Given the description of an element on the screen output the (x, y) to click on. 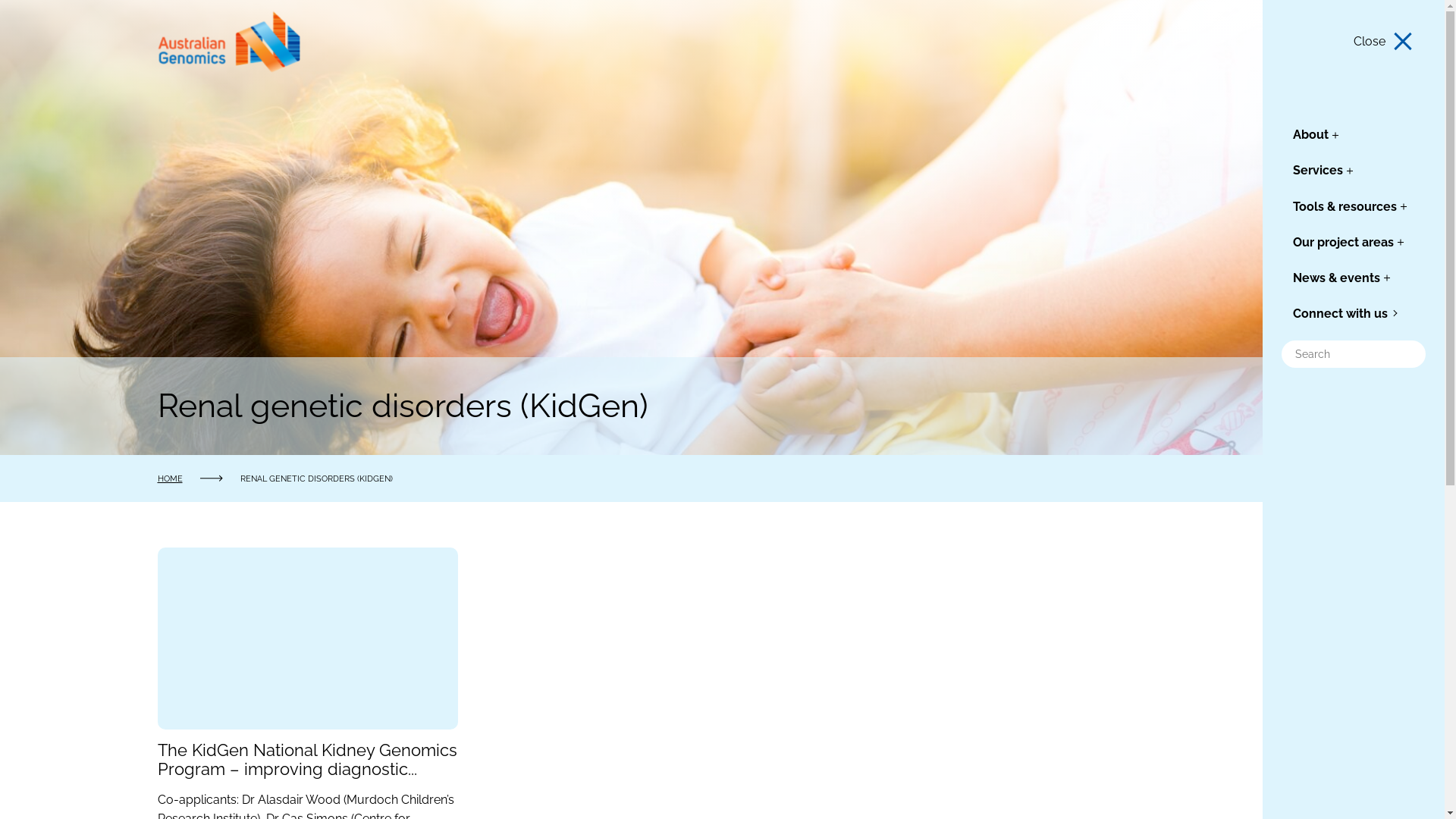
About Element type: text (1310, 134)
Services Element type: text (1317, 170)
News & events Element type: text (1336, 277)
Close Element type: text (1383, 41)
HOME Element type: text (169, 478)
Connect with us Element type: text (1339, 313)
Search Element type: text (23, 11)
Our project areas Element type: text (1342, 242)
Tools & resources Element type: text (1344, 206)
